Given the description of an element on the screen output the (x, y) to click on. 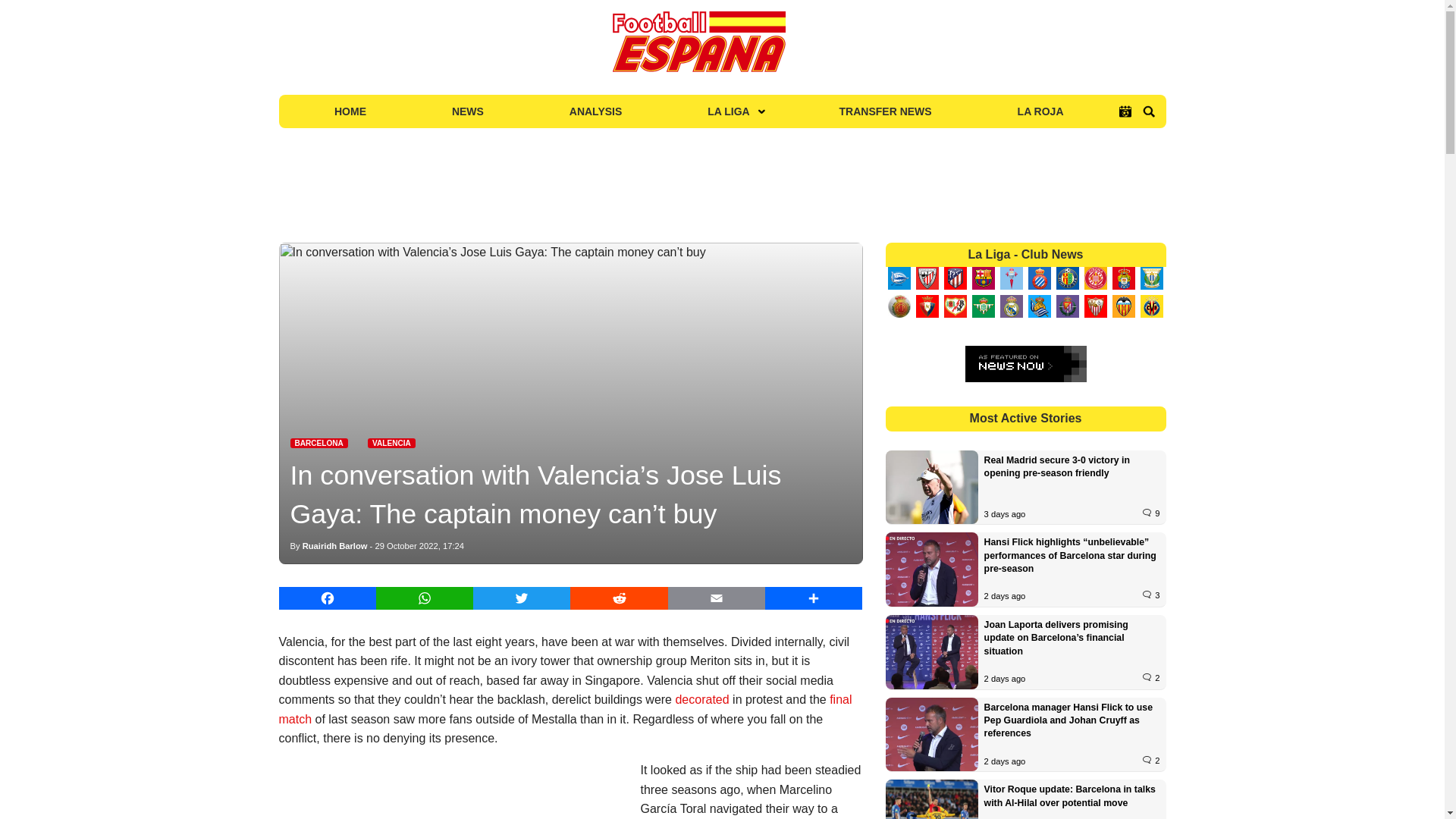
La Liga Fixtures (1125, 111)
Reddit (618, 598)
Twitter (521, 598)
Latest Barcelona News (318, 442)
LA ROJA (1040, 111)
HOME (350, 111)
LA LIGA (729, 111)
NEWS (468, 111)
TRANSFER NEWS (885, 111)
ANALYSIS (595, 111)
Search (1147, 111)
Facebook (327, 598)
WhatsApp (424, 598)
Email (716, 598)
Latest Valencia News (391, 442)
